Given the description of an element on the screen output the (x, y) to click on. 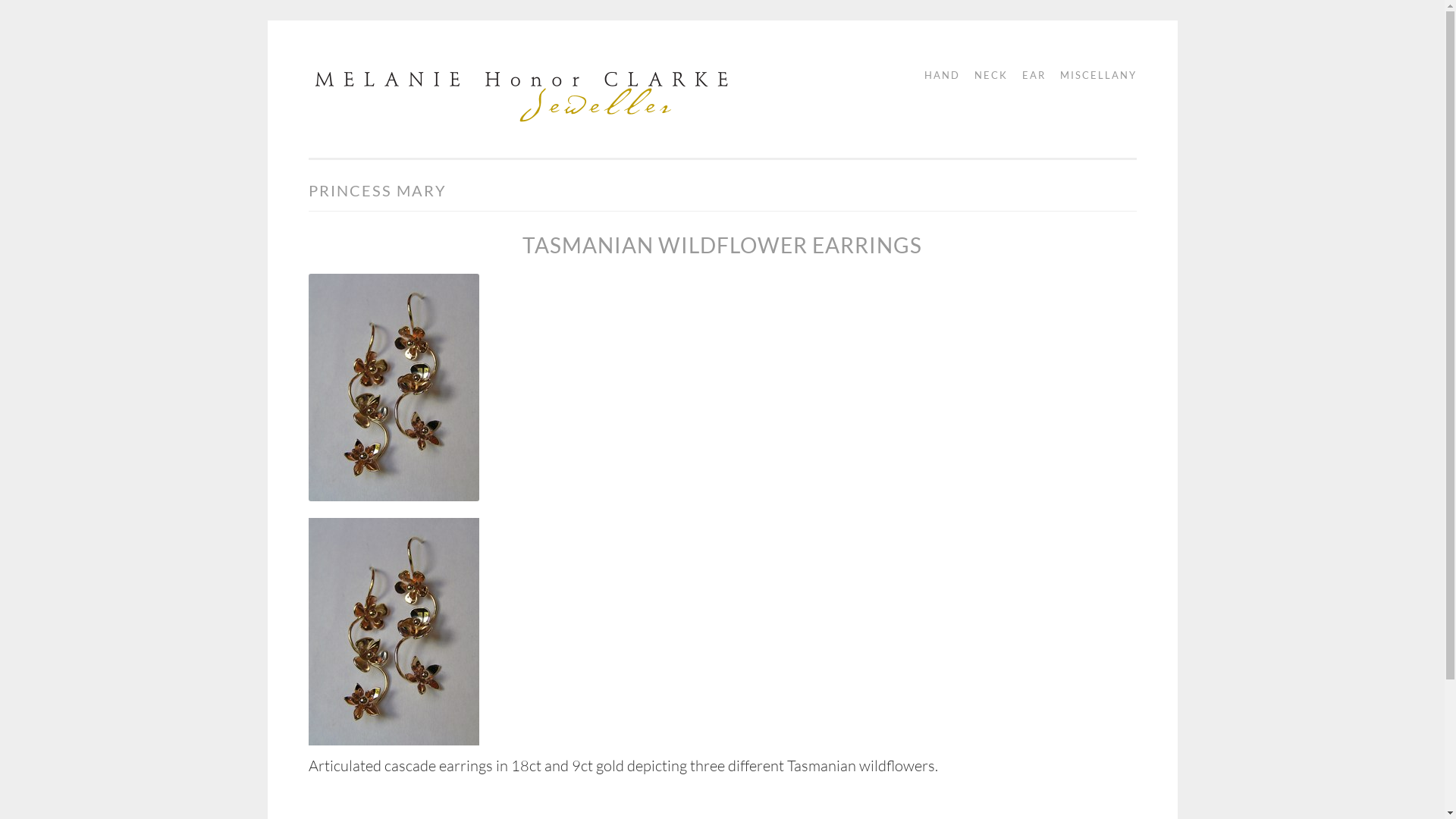
MISCELLANY Element type: text (1092, 75)
NECK Element type: text (985, 75)
TASMANIAN WILDFLOWER EARRINGS Element type: text (722, 244)
EAR Element type: text (1028, 75)
Skip to content Element type: text (346, 71)
HAND Element type: text (936, 75)
